Given the description of an element on the screen output the (x, y) to click on. 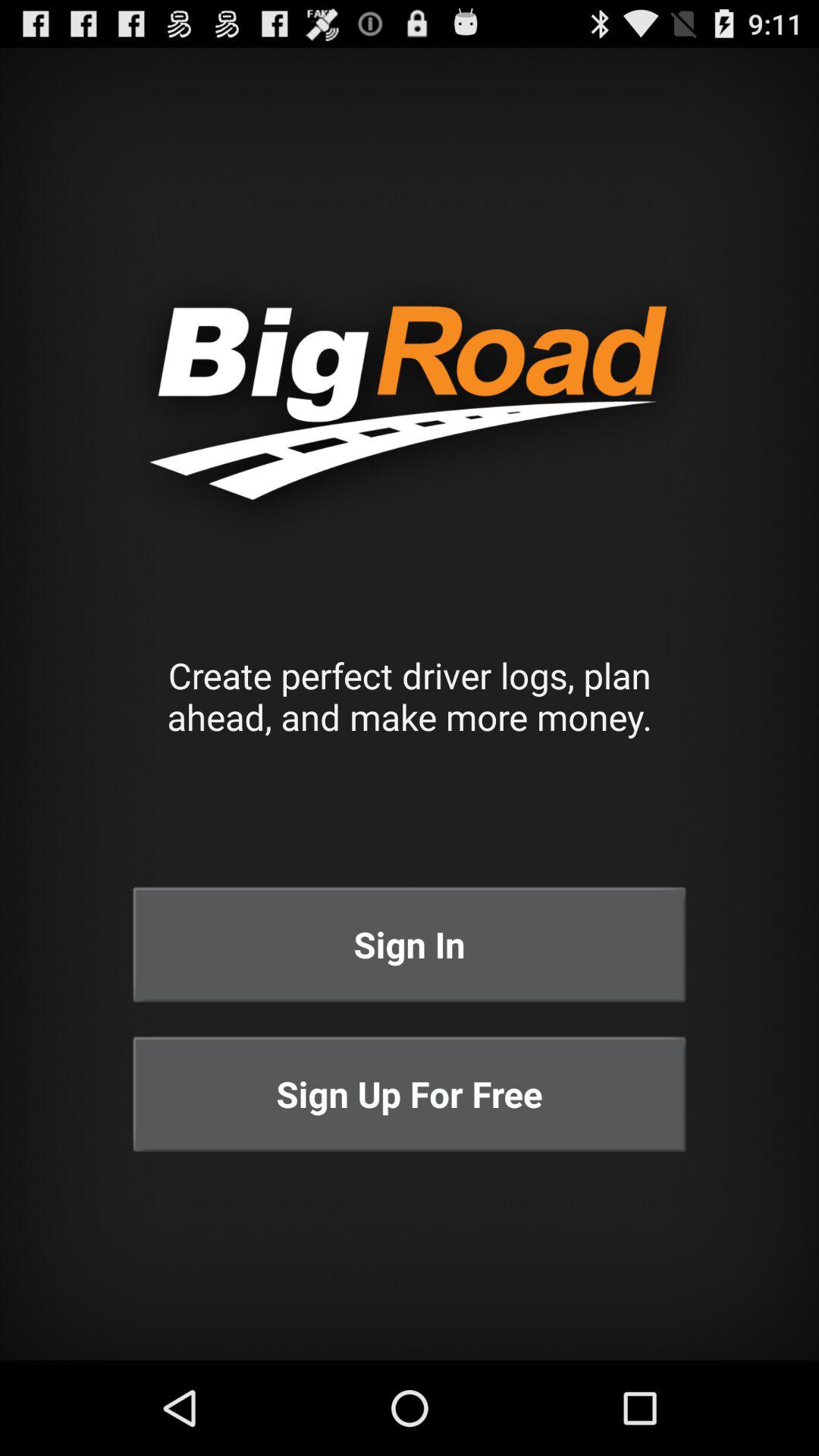
swipe until sign in (409, 944)
